Given the description of an element on the screen output the (x, y) to click on. 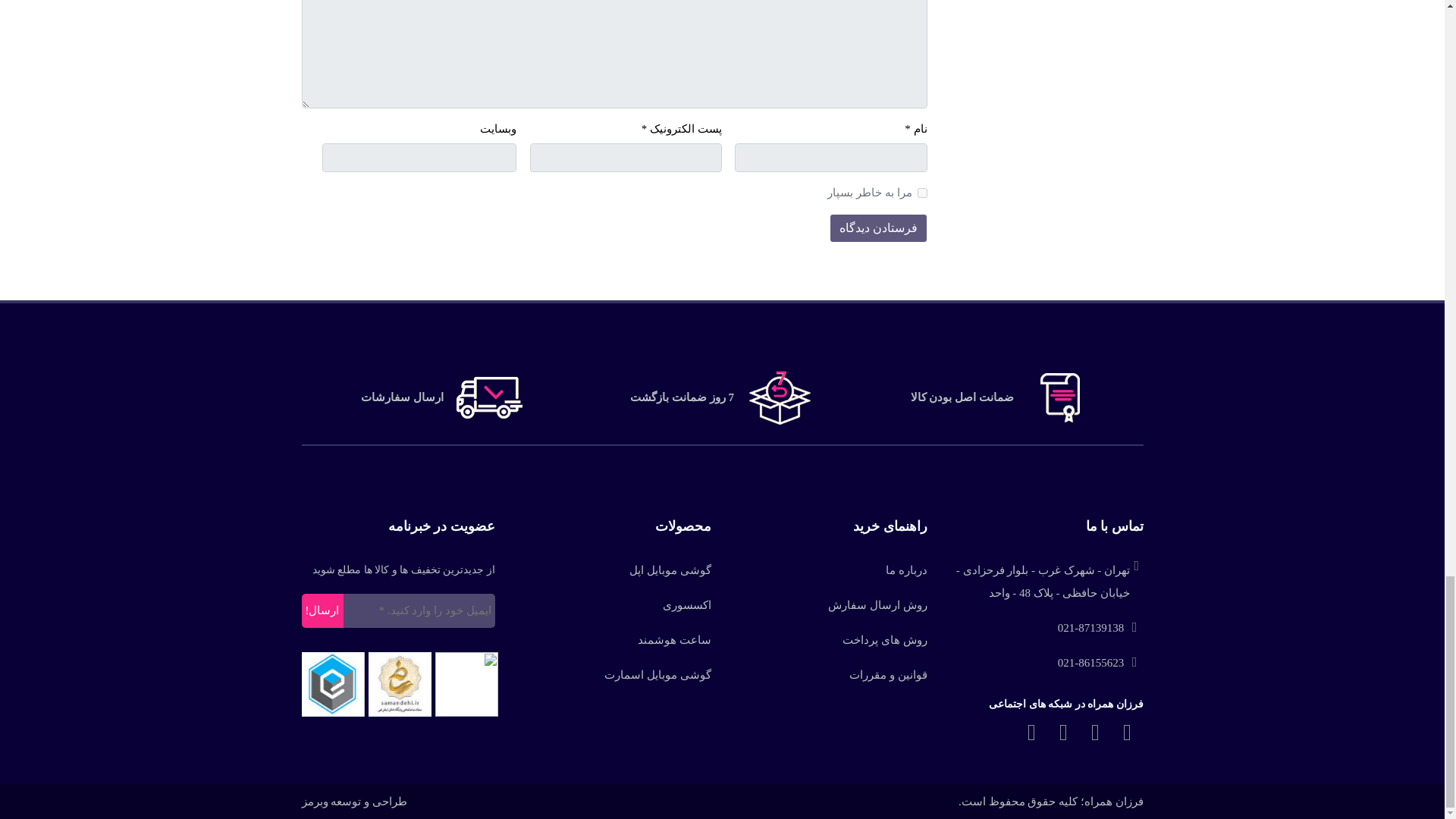
whatsapp (1127, 732)
aparat (1064, 732)
instagram (1032, 732)
yes (922, 193)
phone (1100, 662)
webramz (354, 801)
telegram (1096, 732)
phone (1100, 627)
